Given the description of an element on the screen output the (x, y) to click on. 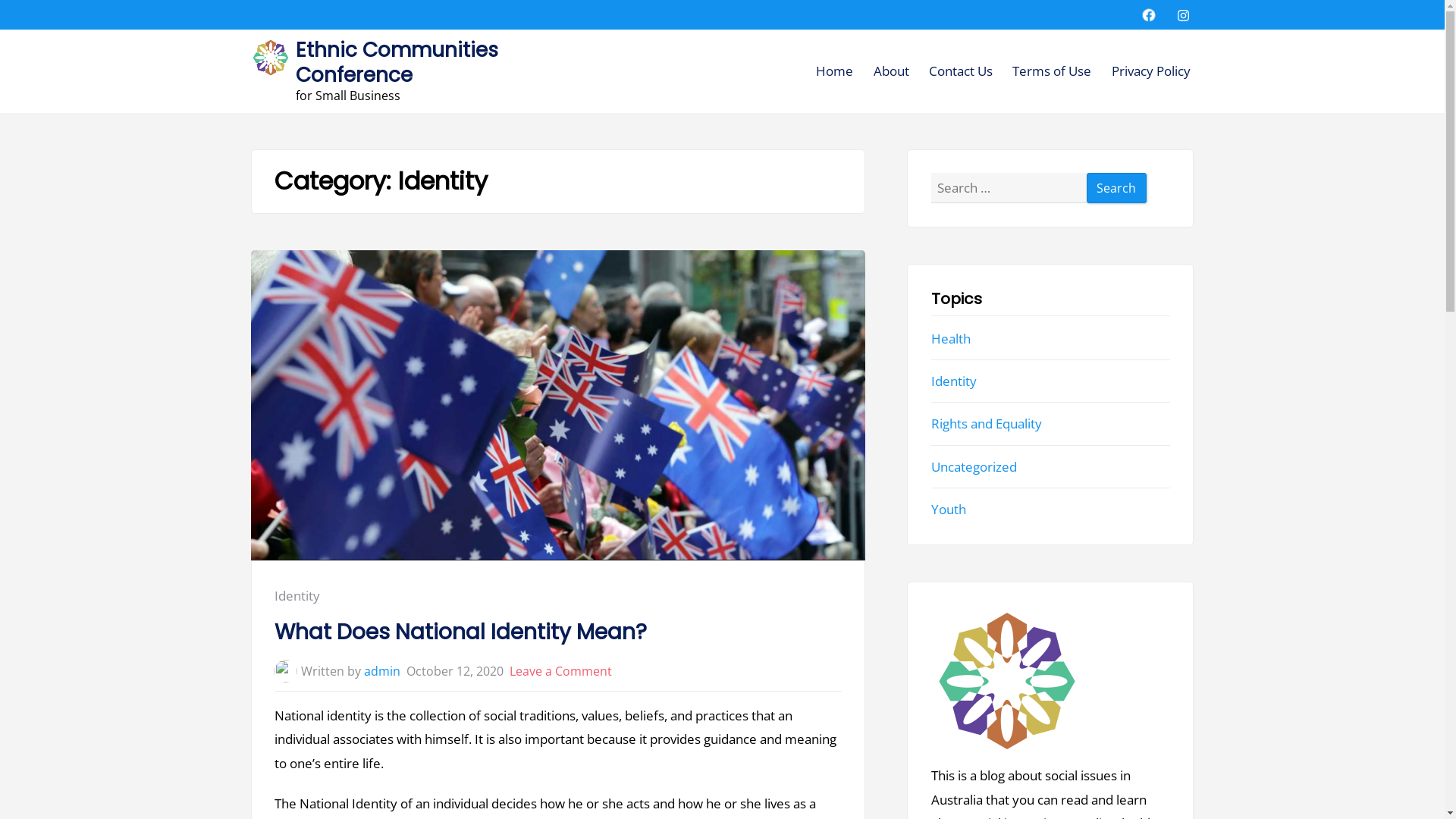
Youth Element type: text (948, 508)
Privacy Policy Element type: text (1150, 70)
Health Element type: text (950, 338)
Identity Element type: text (297, 595)
About Element type: text (891, 70)
Rights and Equality Element type: text (986, 423)
What Does National Identity Mean? Element type: text (557, 632)
Ethnic Communities Conference Element type: text (396, 61)
October 12, 2020 Element type: text (454, 670)
Uncategorized Element type: text (973, 466)
Leave a Comment
on What Does National Identity Mean? Element type: text (560, 670)
Identity Element type: text (953, 380)
Search Element type: text (1116, 187)
Home Element type: text (834, 70)
Terms of Use Element type: text (1051, 70)
Contact Us Element type: text (960, 70)
instagram Element type: text (1182, 14)
facebook Element type: text (1148, 14)
admin Element type: text (382, 670)
